Given the description of an element on the screen output the (x, y) to click on. 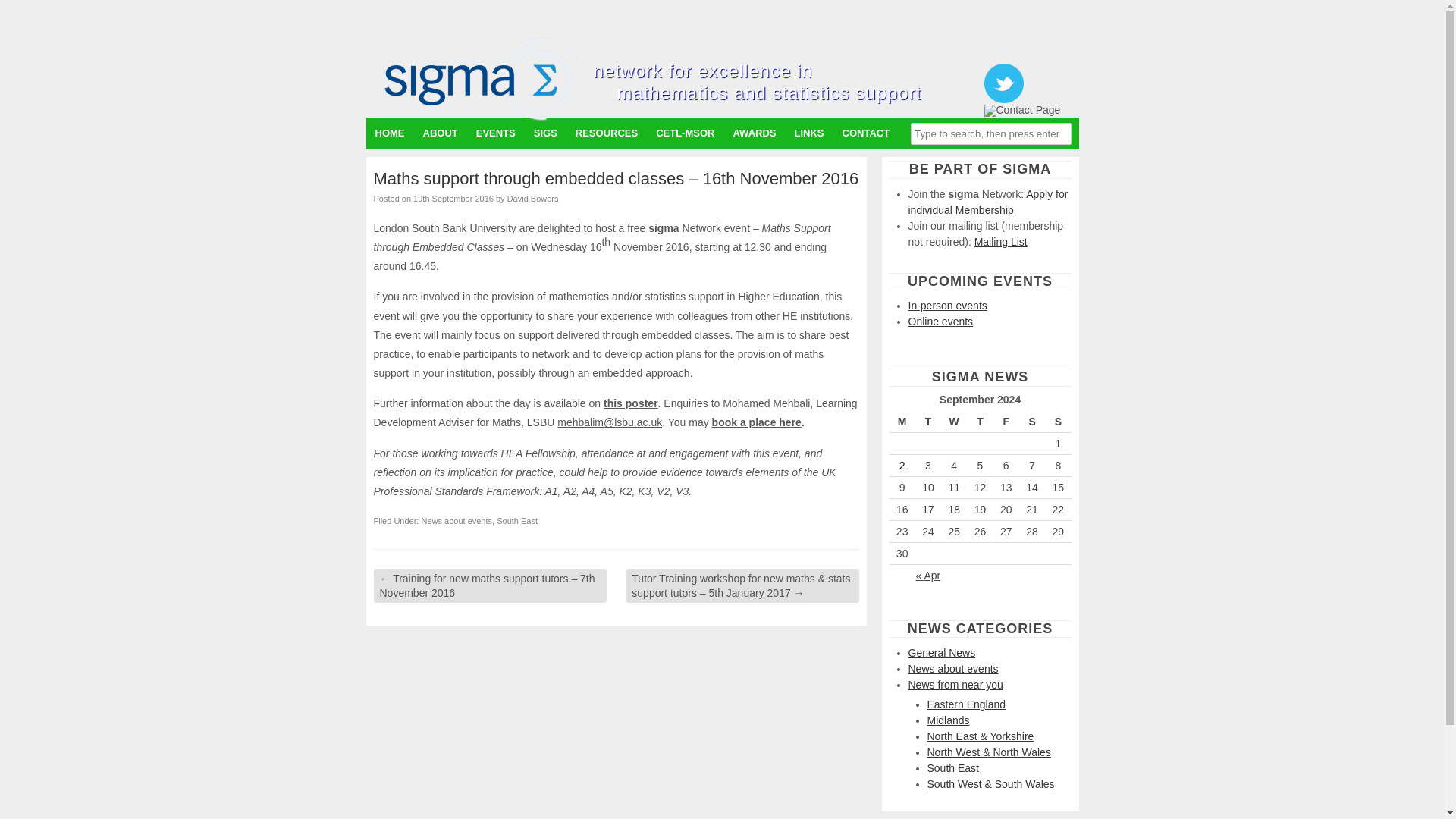
Wednesday (953, 422)
RESOURCES (606, 132)
Friday (1005, 422)
EVENTS (495, 132)
CETL-MSOR (684, 132)
HOME (389, 132)
ABOUT (440, 132)
Type to search, then press enter (991, 133)
SIGS (545, 132)
View all posts by David Bowers (532, 198)
